Given the description of an element on the screen output the (x, y) to click on. 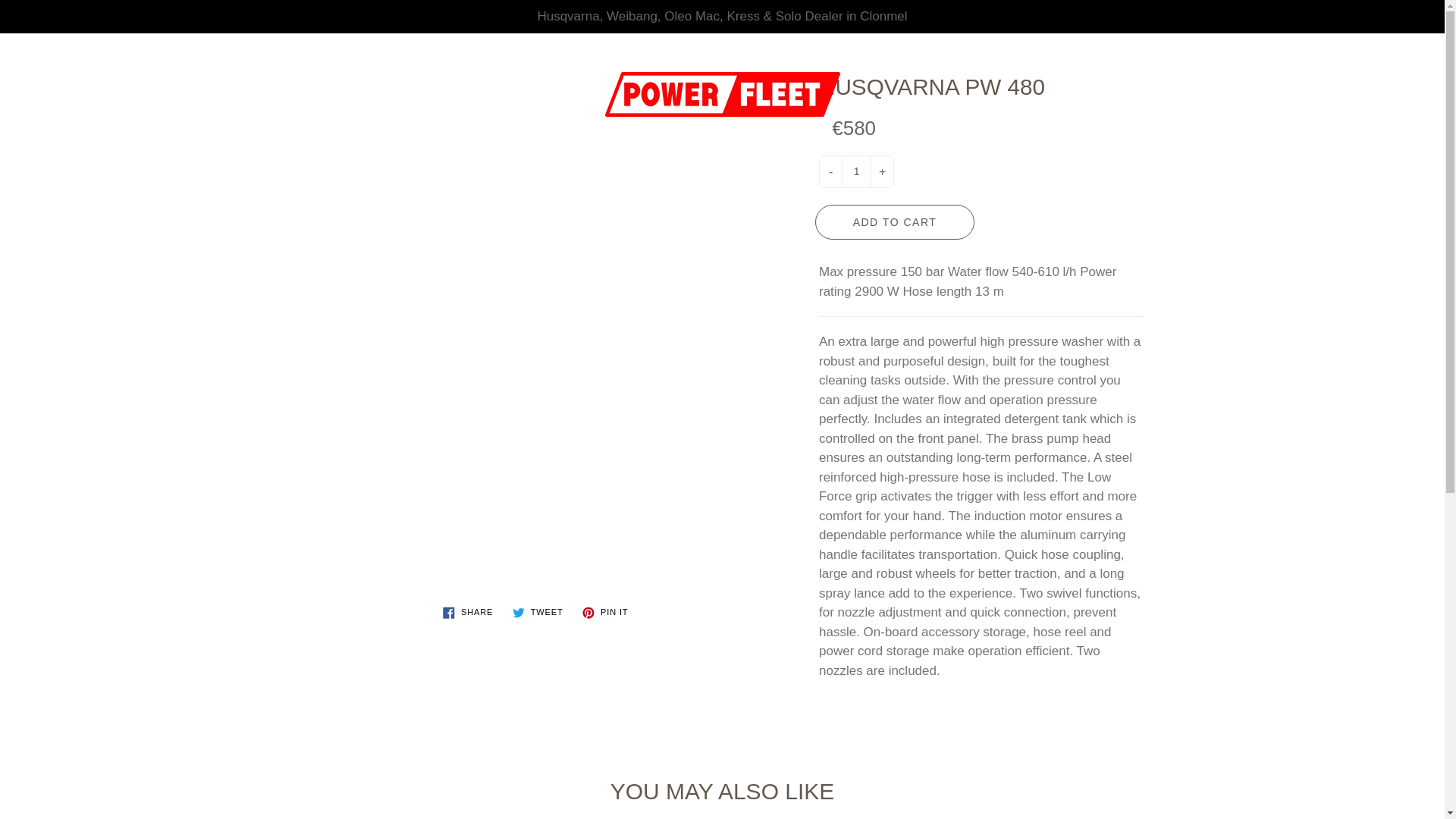
ALL PRODUCTS (338, 150)
Tweet on Twitter (537, 612)
Search (93, 51)
Share on Facebook (467, 612)
Pin on Pinterest (604, 612)
1 (855, 171)
You have 0 items in your cart (1417, 59)
